Given the description of an element on the screen output the (x, y) to click on. 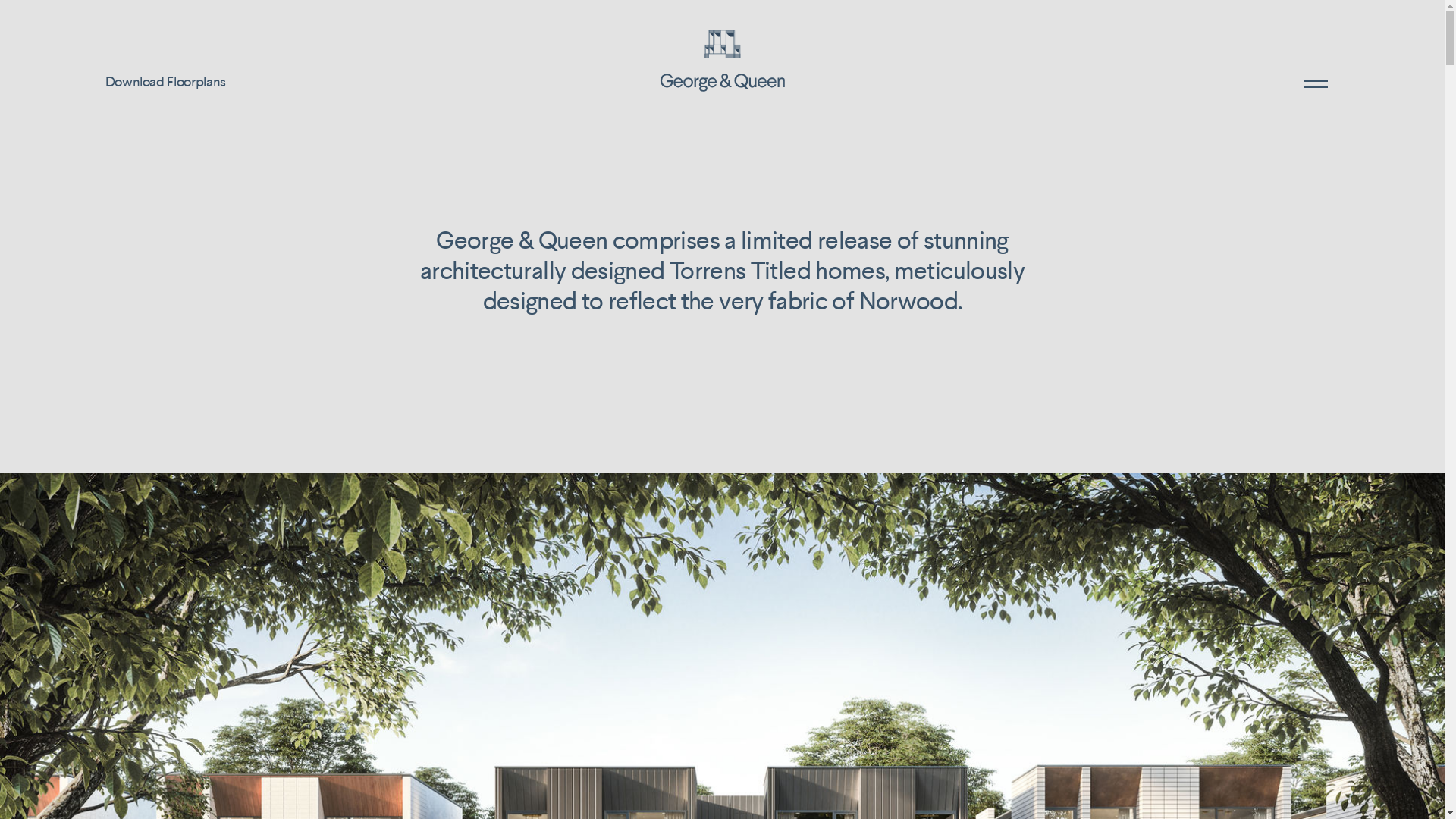
Download Floorplans Element type: text (165, 82)
George and Queen Element type: hover (722, 54)
